Given the description of an element on the screen output the (x, y) to click on. 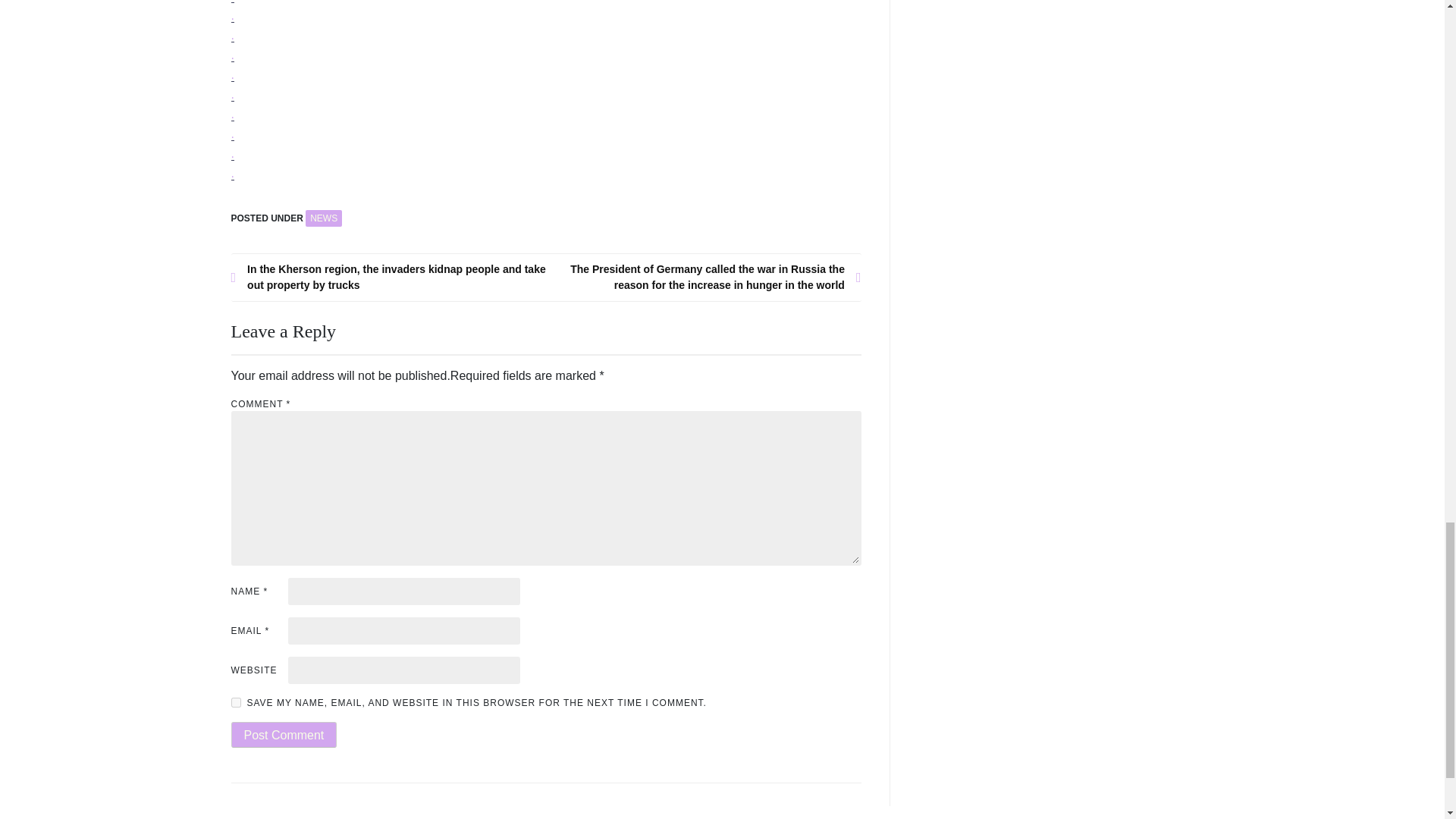
Post Comment (283, 734)
yes (235, 702)
